Given the description of an element on the screen output the (x, y) to click on. 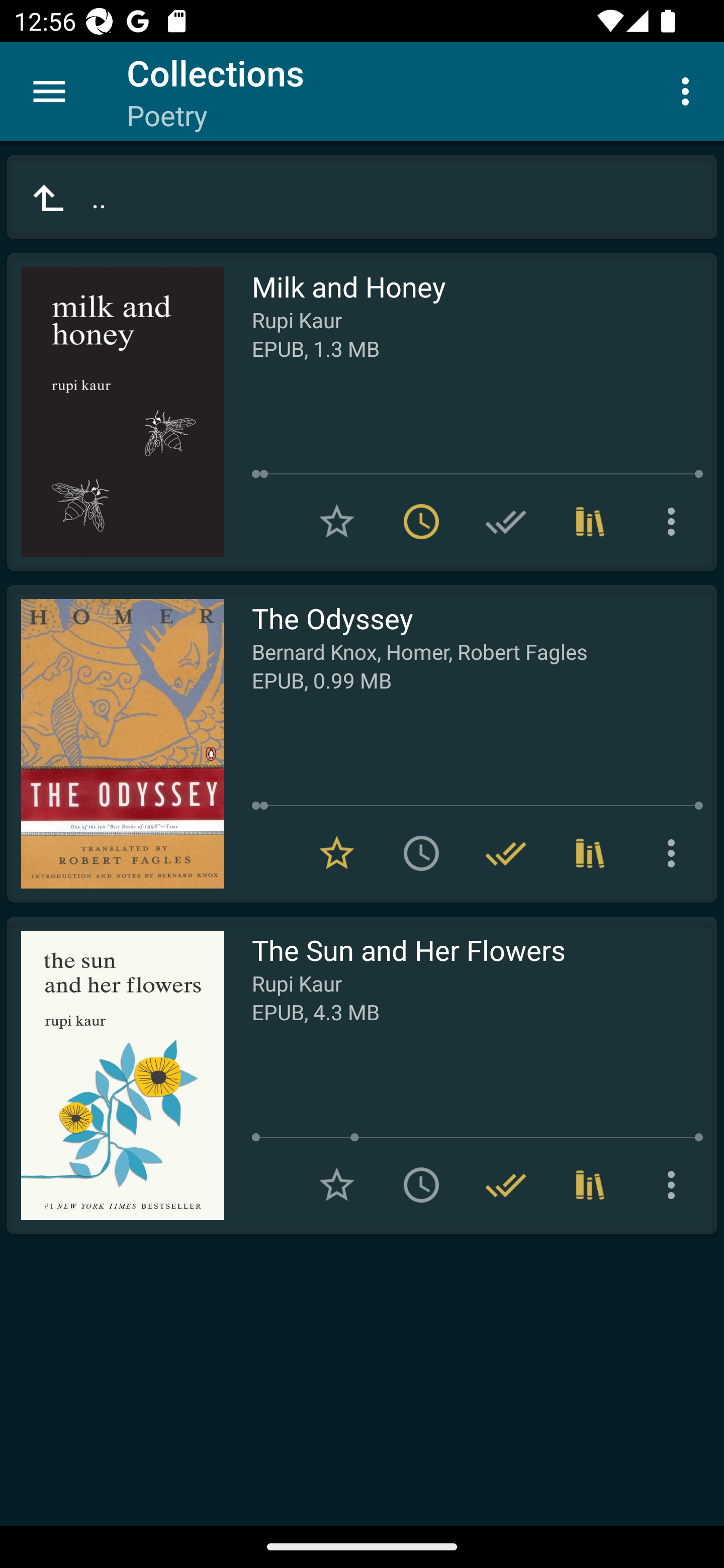
Menu (49, 91)
More options (688, 90)
.. (361, 197)
Read Milk and Honey (115, 412)
Add to Favorites (336, 521)
Remove from To read (421, 521)
Add to Have read (505, 521)
Collections (3) (590, 521)
More options (674, 521)
Read The Odyssey (115, 743)
Remove from Favorites (336, 852)
Add to To read (421, 852)
Remove from Have read (505, 852)
Collections (2) (590, 852)
More options (674, 852)
Read The Sun and Her Flowers (115, 1075)
Add to Favorites (336, 1185)
Add to To read (421, 1185)
Remove from Have read (505, 1185)
Collections (1) (590, 1185)
More options (674, 1185)
